Given the description of an element on the screen output the (x, y) to click on. 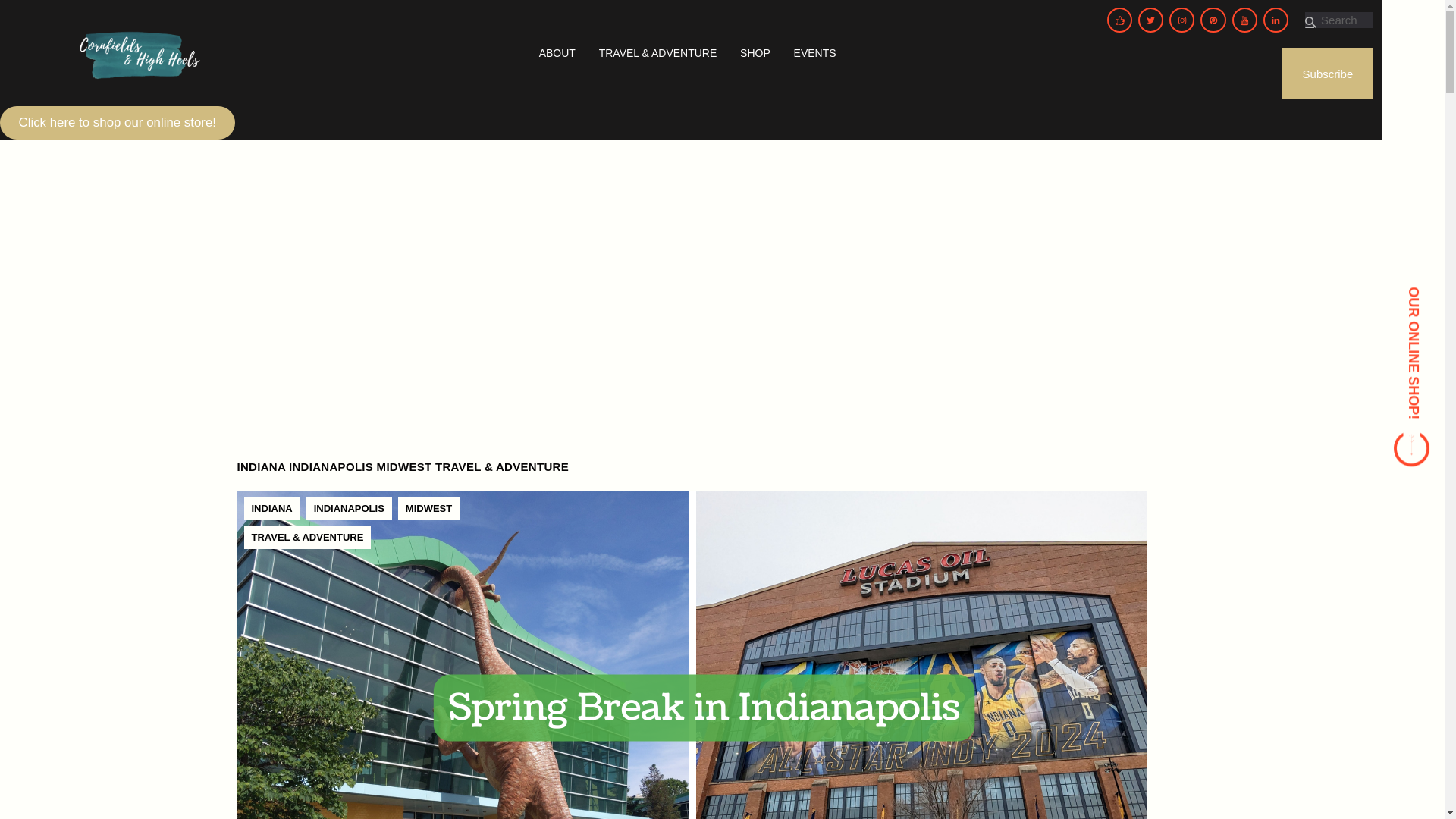
SHOP (755, 52)
EVENTS (814, 52)
Subscribe (1328, 72)
ABOUT (556, 52)
